Given the description of an element on the screen output the (x, y) to click on. 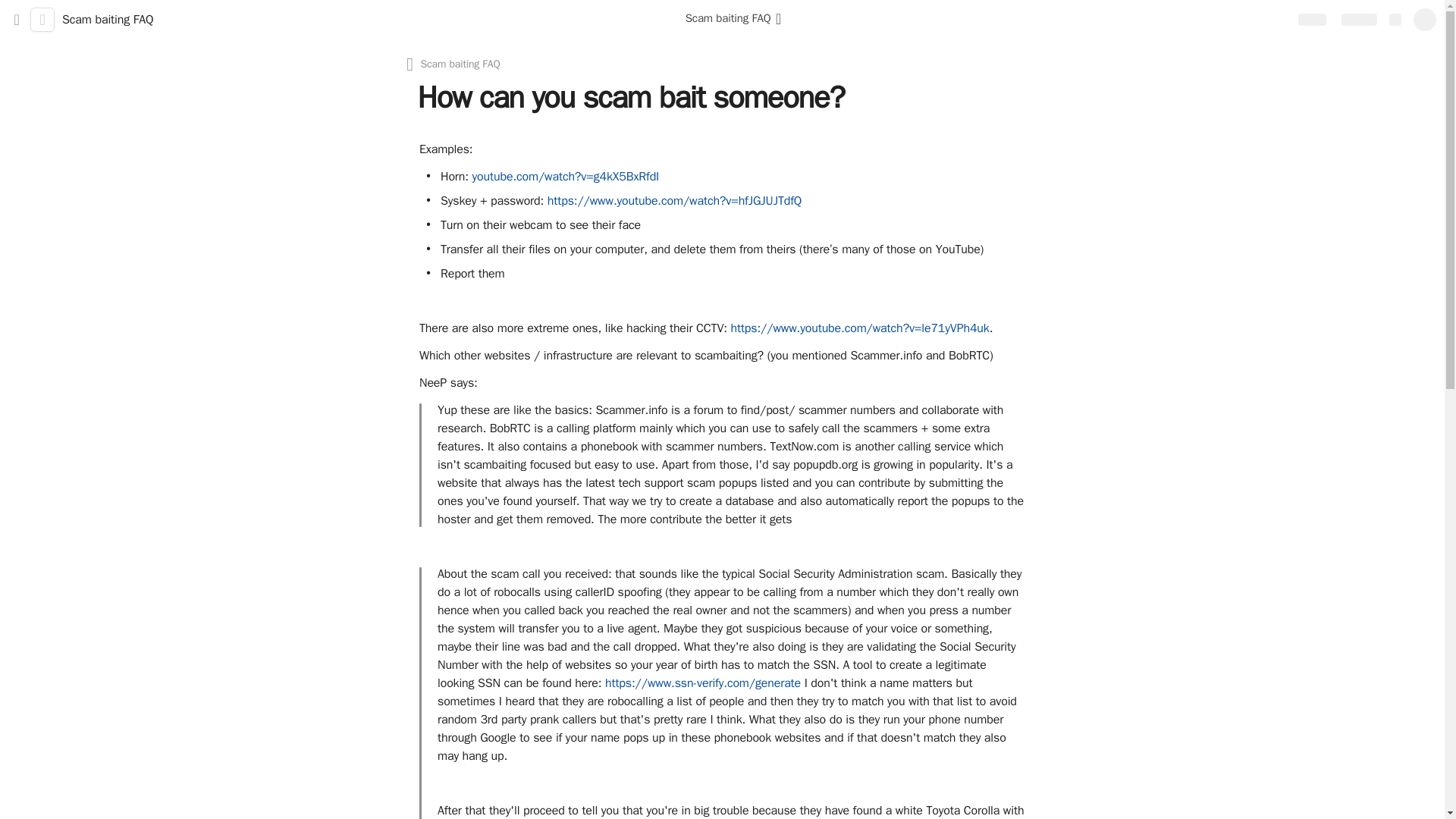
Scam baiting FAQ (735, 20)
